Given the description of an element on the screen output the (x, y) to click on. 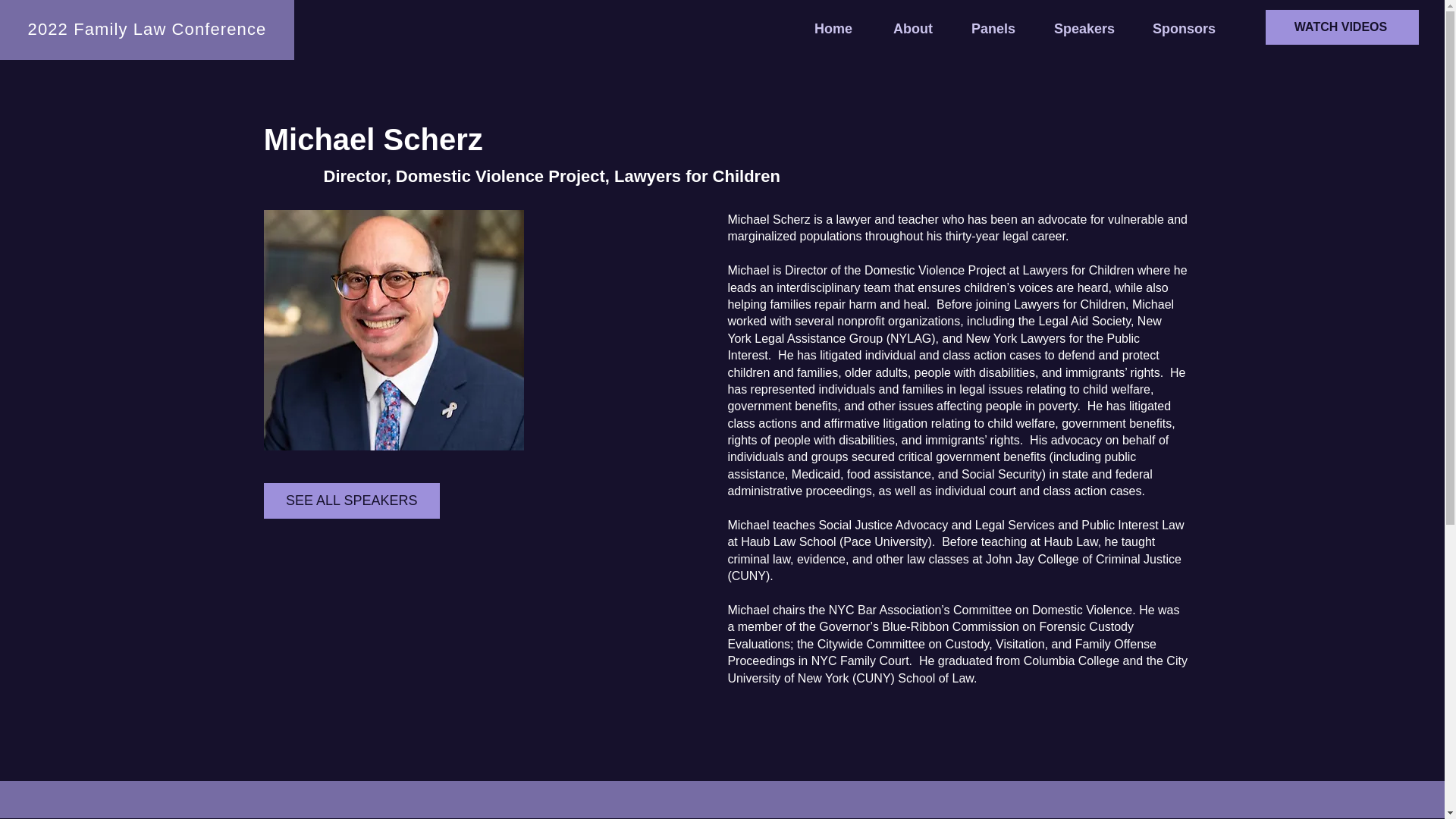
WATCH VIDEOS (1341, 27)
SEE ALL SPEAKERS (351, 500)
Home (845, 29)
Speakers (1095, 29)
2022 Family Law Conference (146, 28)
About (924, 29)
Panels (1004, 29)
Sponsors (1193, 29)
